Given the description of an element on the screen output the (x, y) to click on. 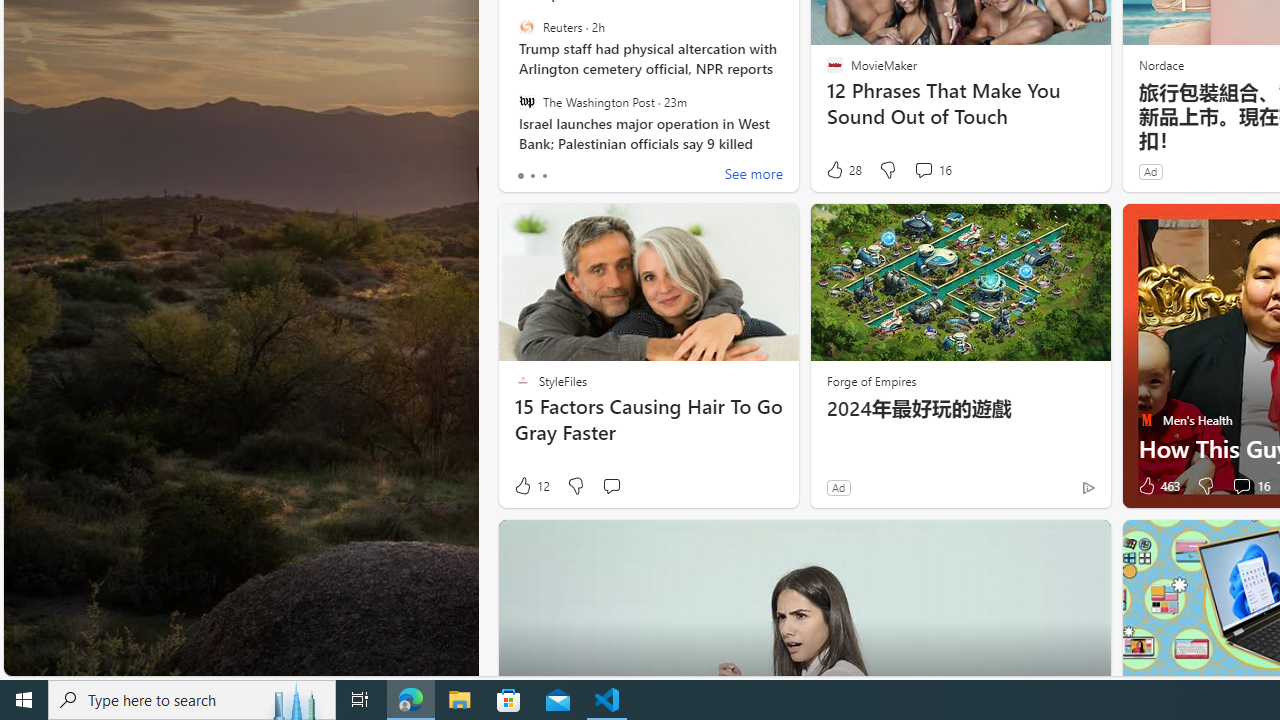
463 Like (1157, 485)
View comments 16 Comment (1241, 485)
